Given the description of an element on the screen output the (x, y) to click on. 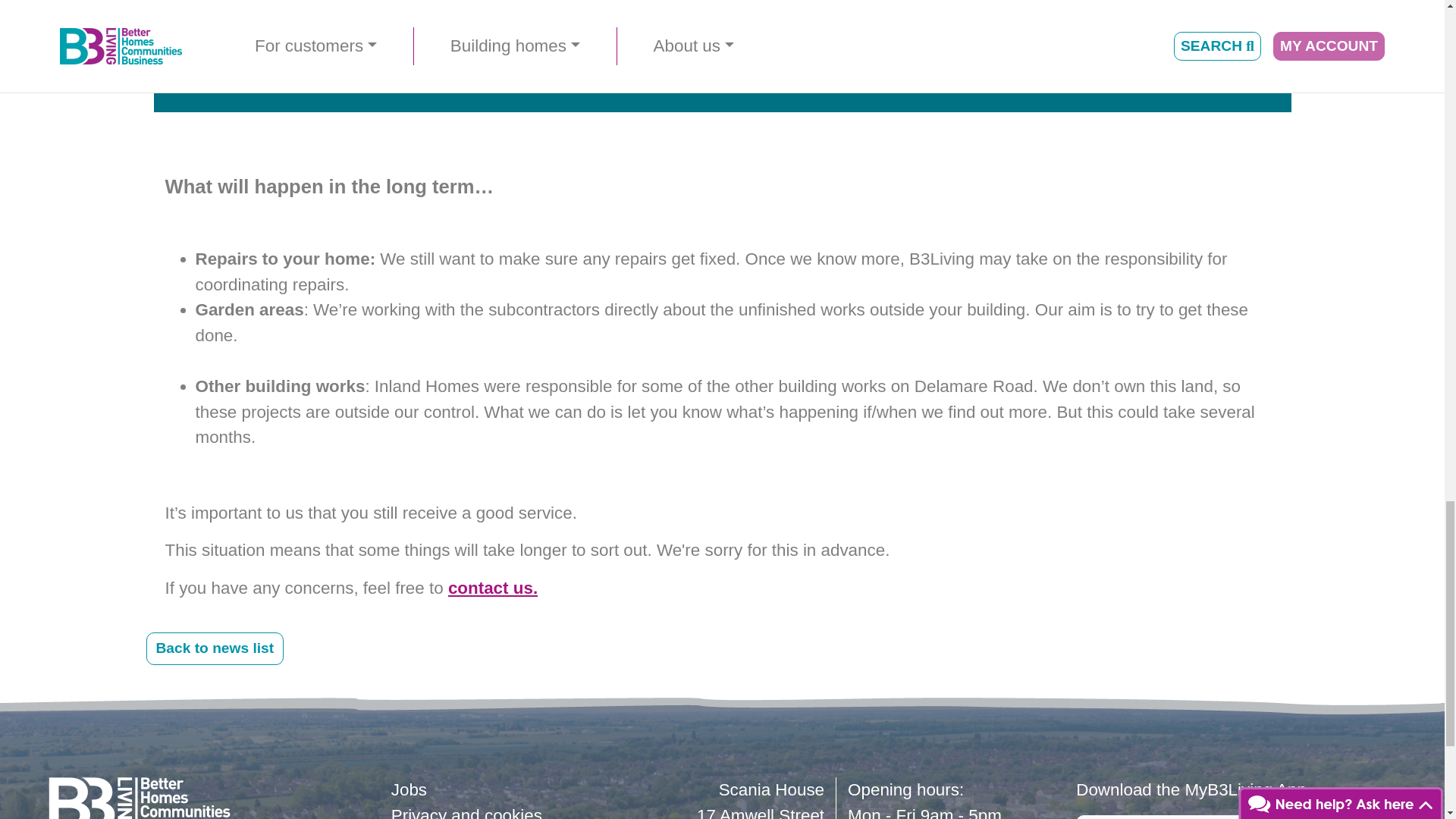
Contact us (492, 587)
B3 Living (139, 798)
